Given the description of an element on the screen output the (x, y) to click on. 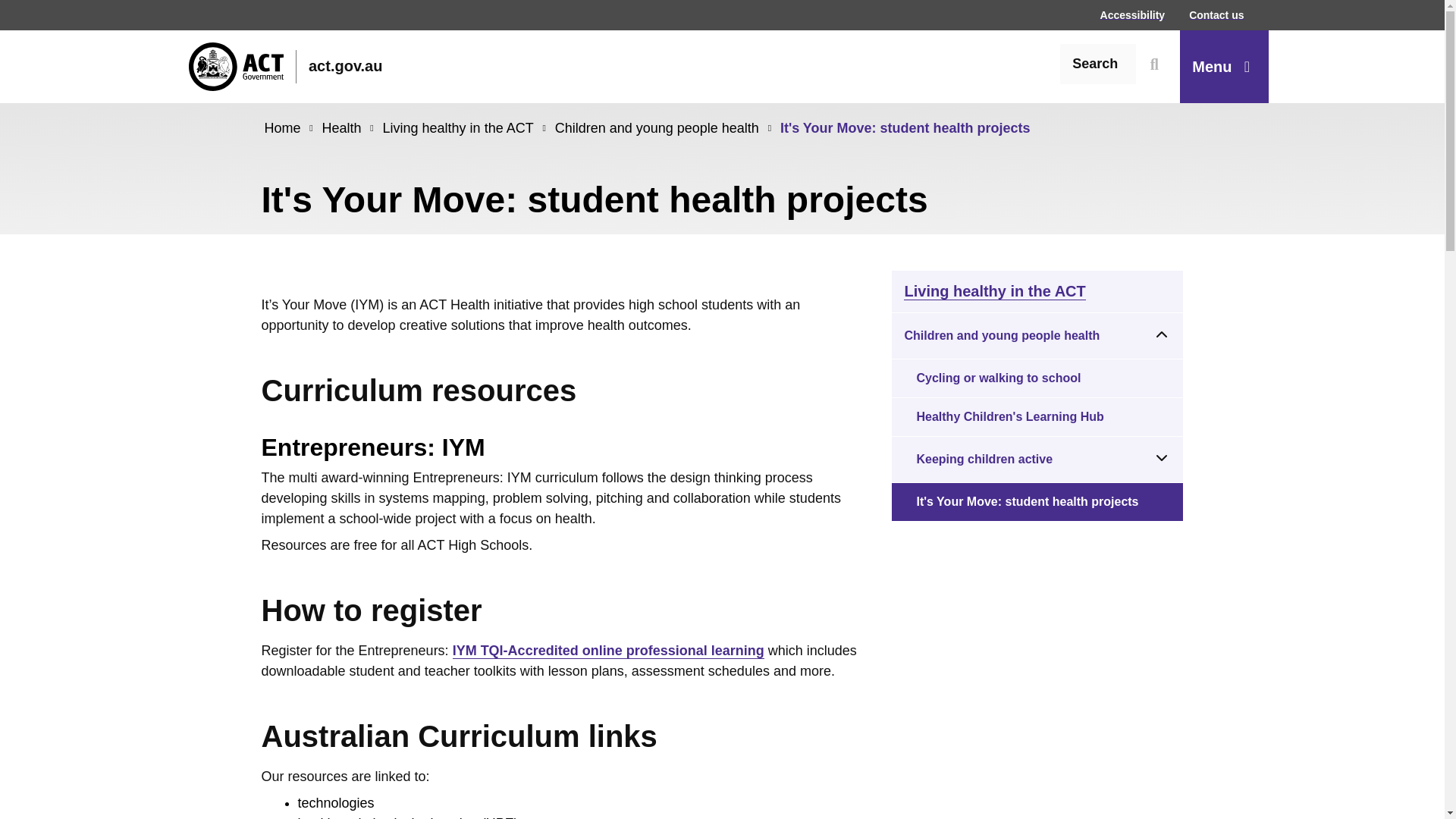
act.gov.au (284, 66)
Contact us (1216, 14)
Link to Children and young people health (664, 128)
Contact us (1216, 14)
Accessibility (1133, 14)
Link to Living healthy in the ACT (465, 128)
Accessibility (1133, 14)
Link to It's Your Move: student health projects (905, 128)
Menu (1223, 66)
Link to Health (349, 128)
Link to Home (289, 128)
